Given the description of an element on the screen output the (x, y) to click on. 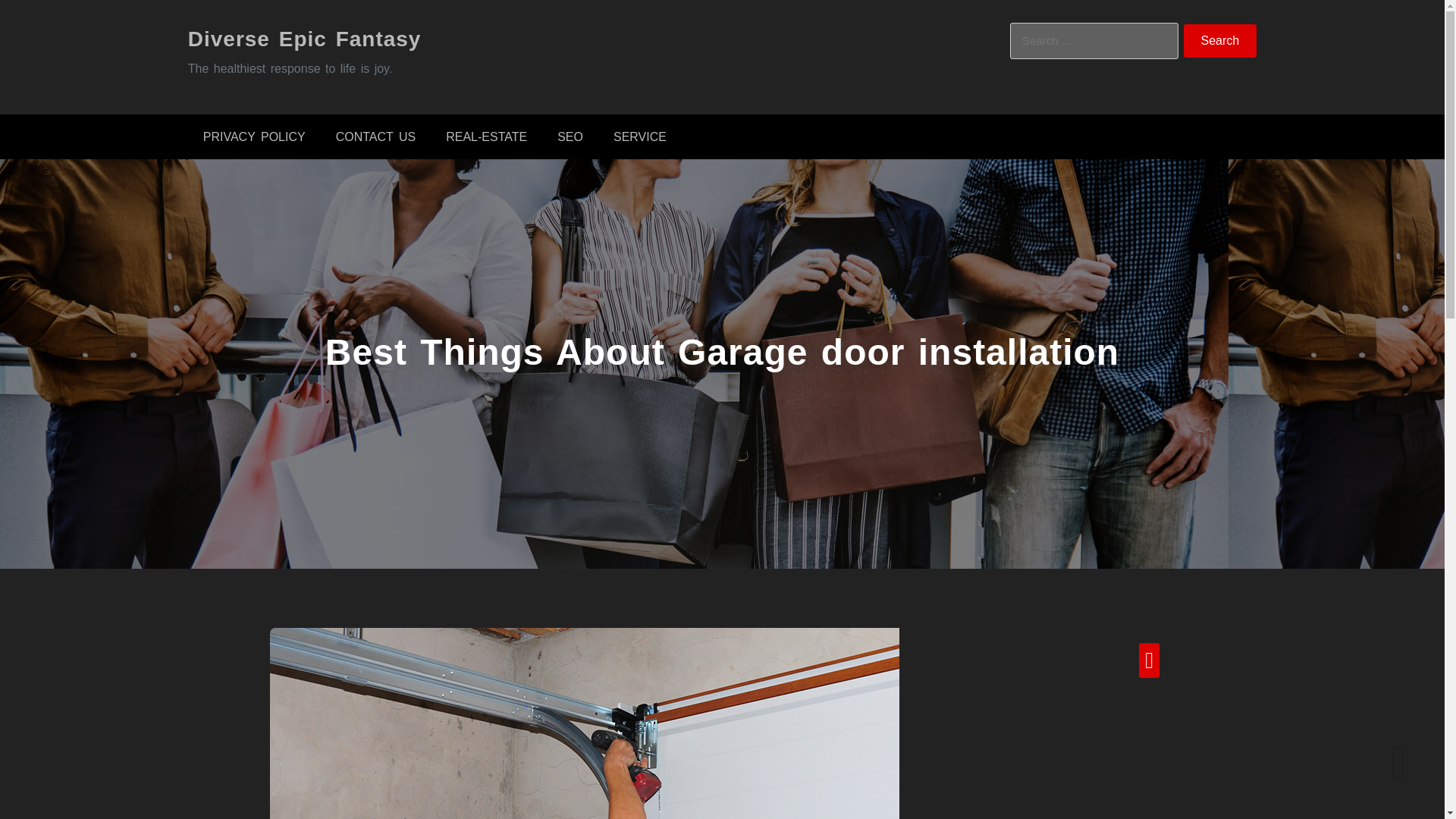
CONTACT US (375, 136)
Search (1220, 40)
REAL-ESTATE (485, 136)
Search (1220, 40)
Search (1220, 40)
PRIVACY POLICY (253, 136)
SEO (569, 136)
SERVICE (639, 136)
Diverse Epic Fantasy (304, 38)
